Given the description of an element on the screen output the (x, y) to click on. 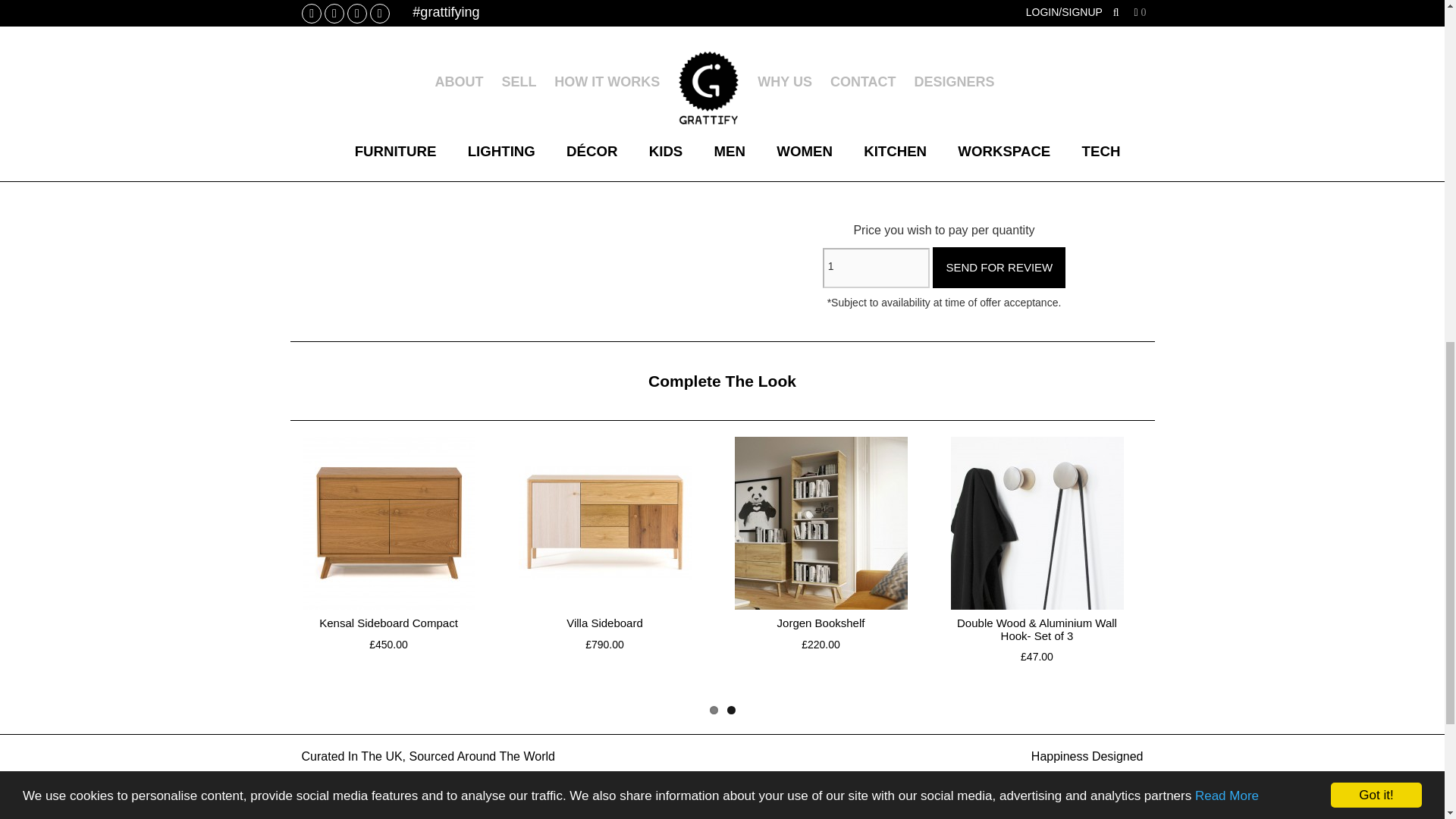
1 (876, 268)
SEND FOR REVIEW (944, 110)
